Given the description of an element on the screen output the (x, y) to click on. 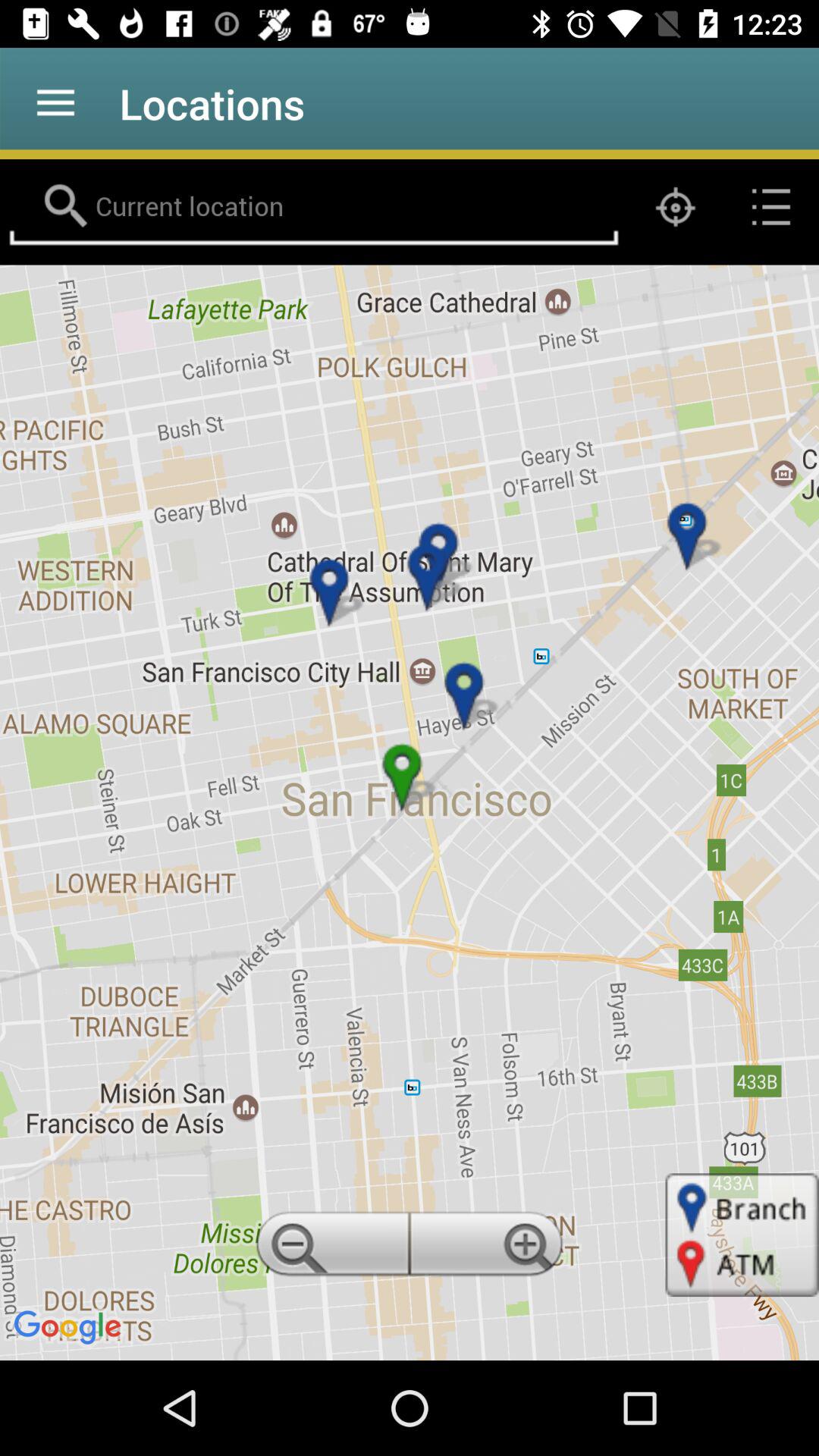
zoom out (329, 1248)
